Given the description of an element on the screen output the (x, y) to click on. 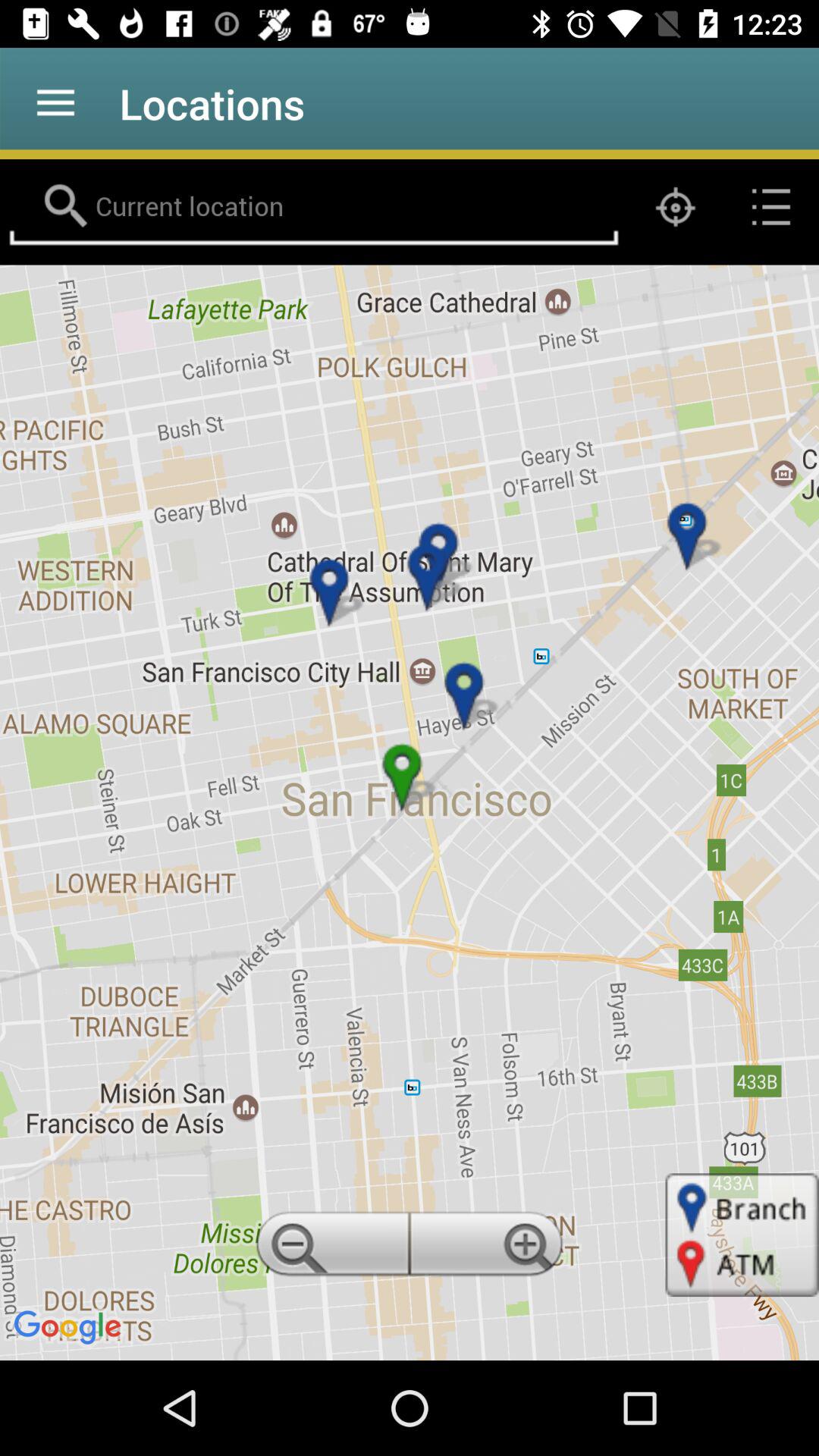
zoom out (329, 1248)
